Given the description of an element on the screen output the (x, y) to click on. 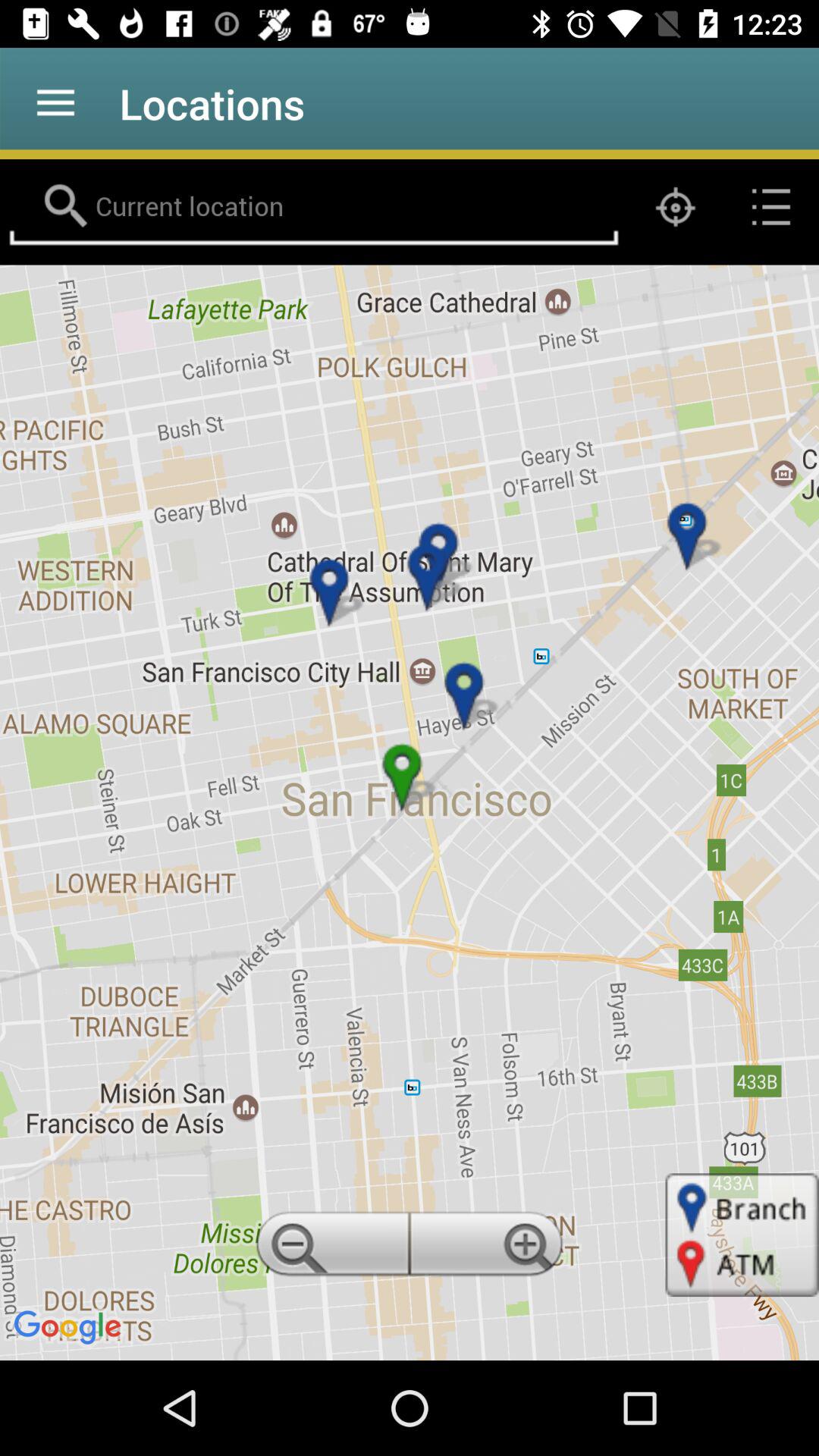
zoom out (329, 1248)
